Given the description of an element on the screen output the (x, y) to click on. 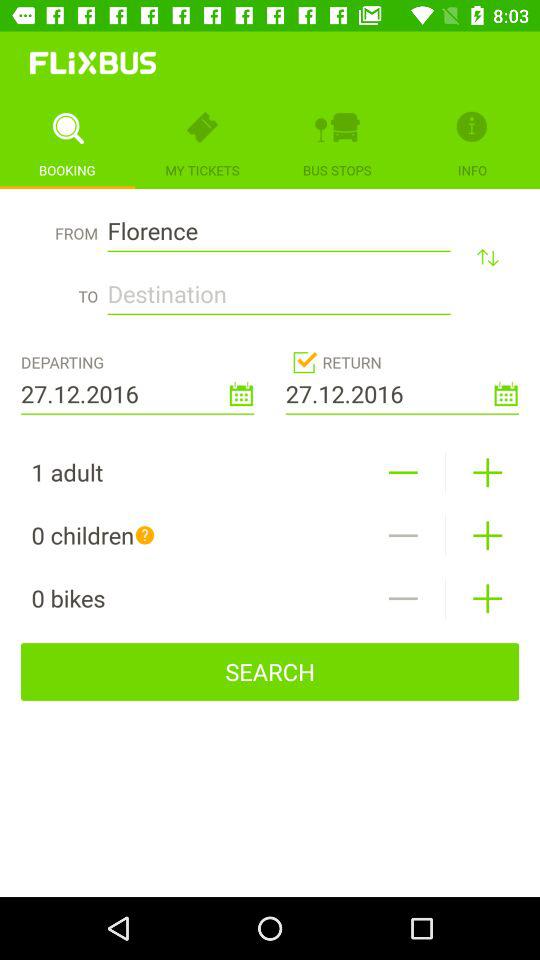
add child (487, 535)
